Given the description of an element on the screen output the (x, y) to click on. 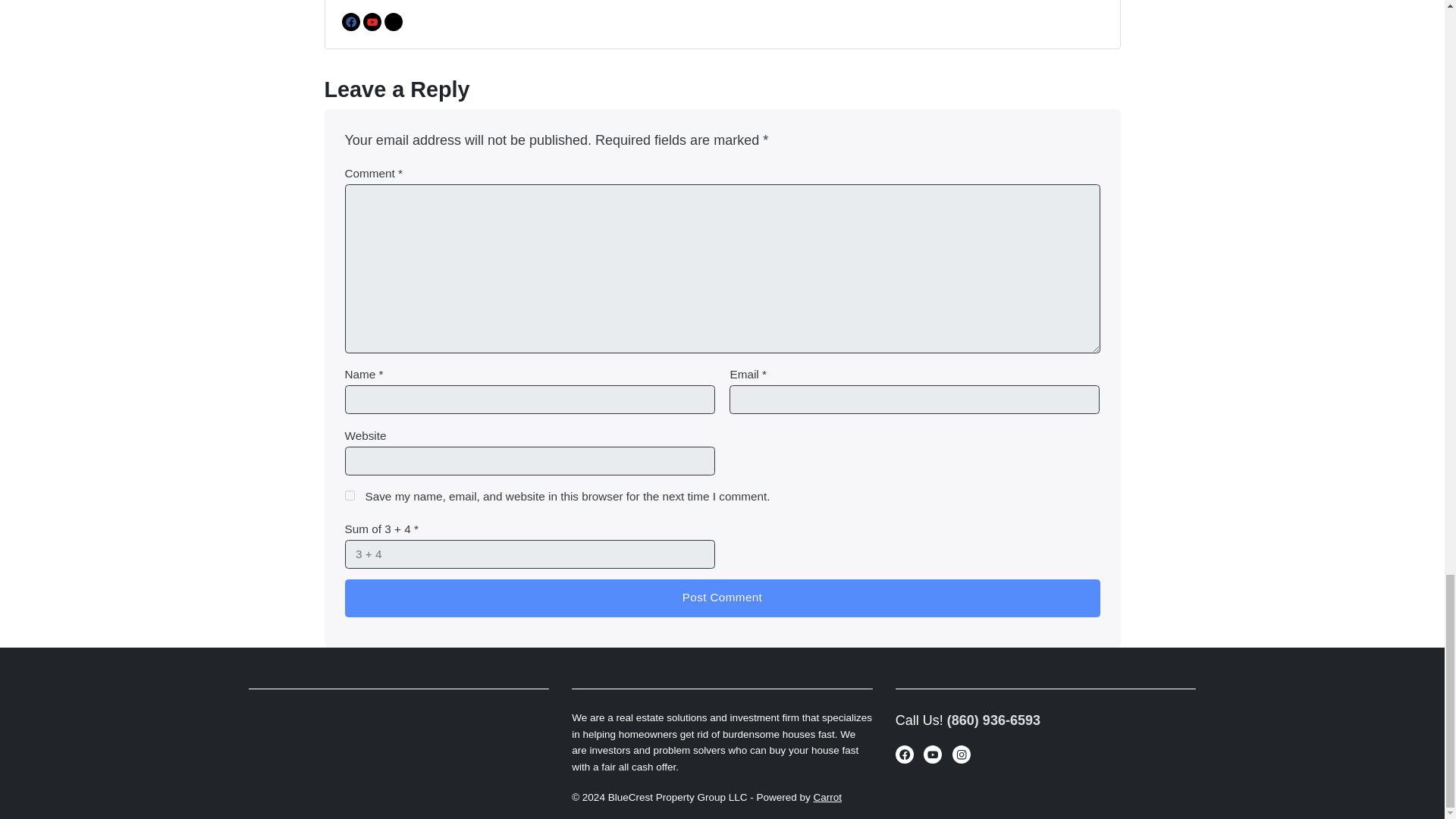
Instagram (393, 22)
Facebook (350, 22)
Facebook (904, 754)
Carrot (828, 796)
Instagram (961, 754)
Post Comment (721, 597)
YouTube (932, 754)
YouTube (371, 22)
yes (348, 495)
Post Comment (721, 597)
